Given the description of an element on the screen output the (x, y) to click on. 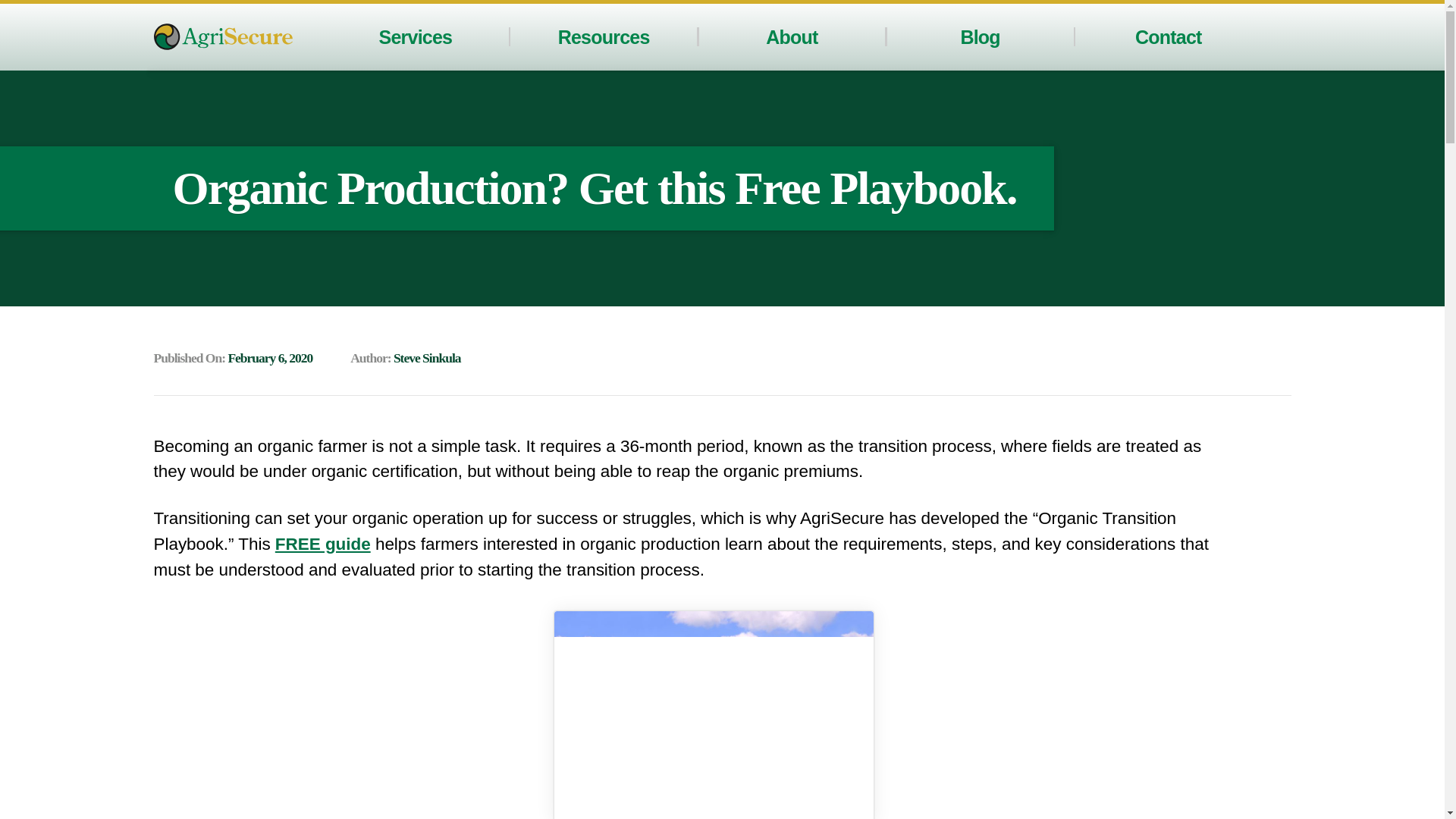
Services (415, 37)
Resources (603, 37)
Services (415, 37)
Blog (978, 37)
Contact (1168, 37)
Blog (978, 37)
About (790, 37)
About (790, 37)
FREE guide (323, 544)
AgriSecure (222, 36)
Contact (1168, 37)
Resources (603, 37)
